Given the description of an element on the screen output the (x, y) to click on. 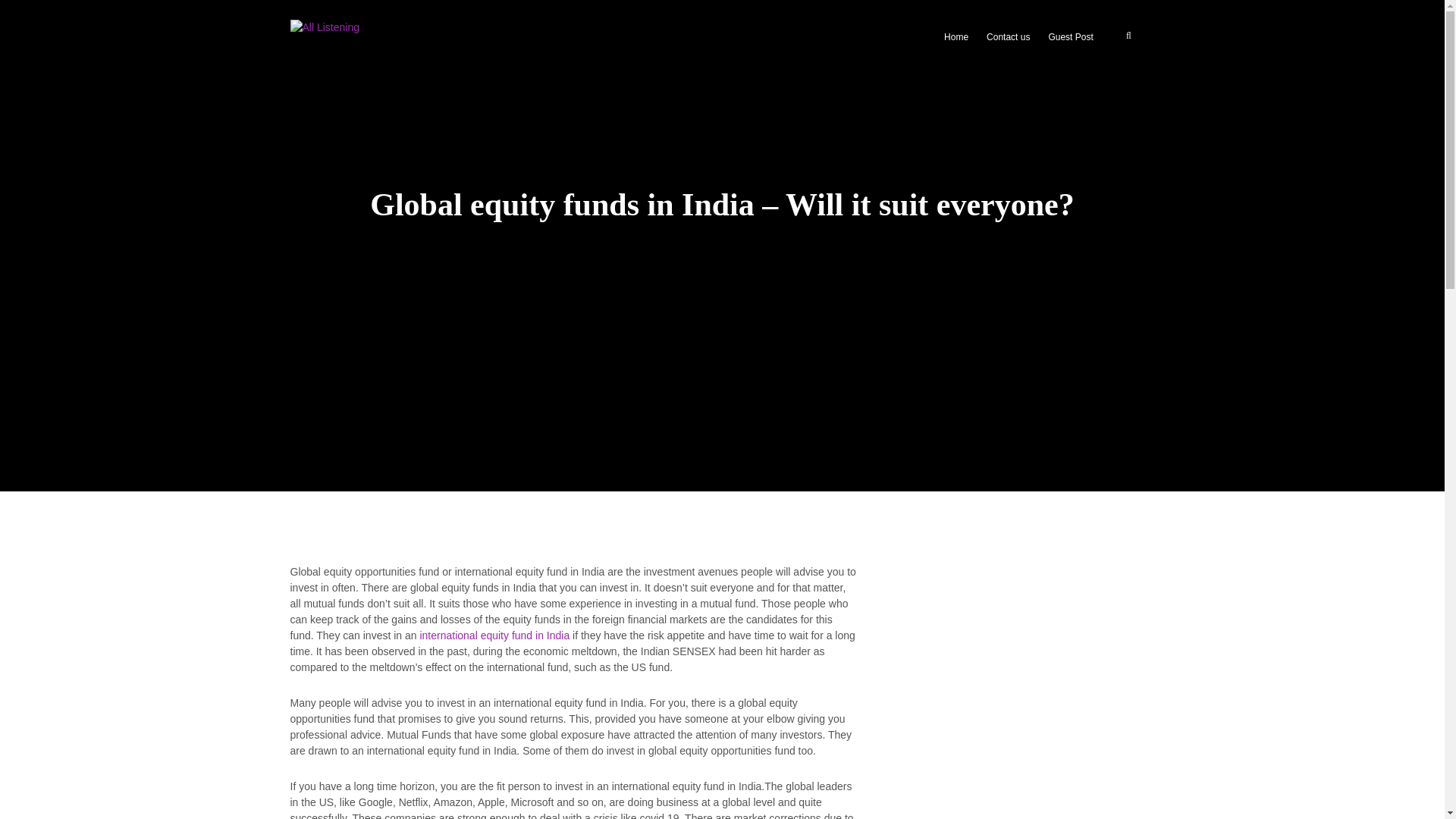
international equity fund in India (494, 635)
Guest Post (1070, 37)
Home (955, 37)
Contact us (1007, 37)
